Given the description of an element on the screen output the (x, y) to click on. 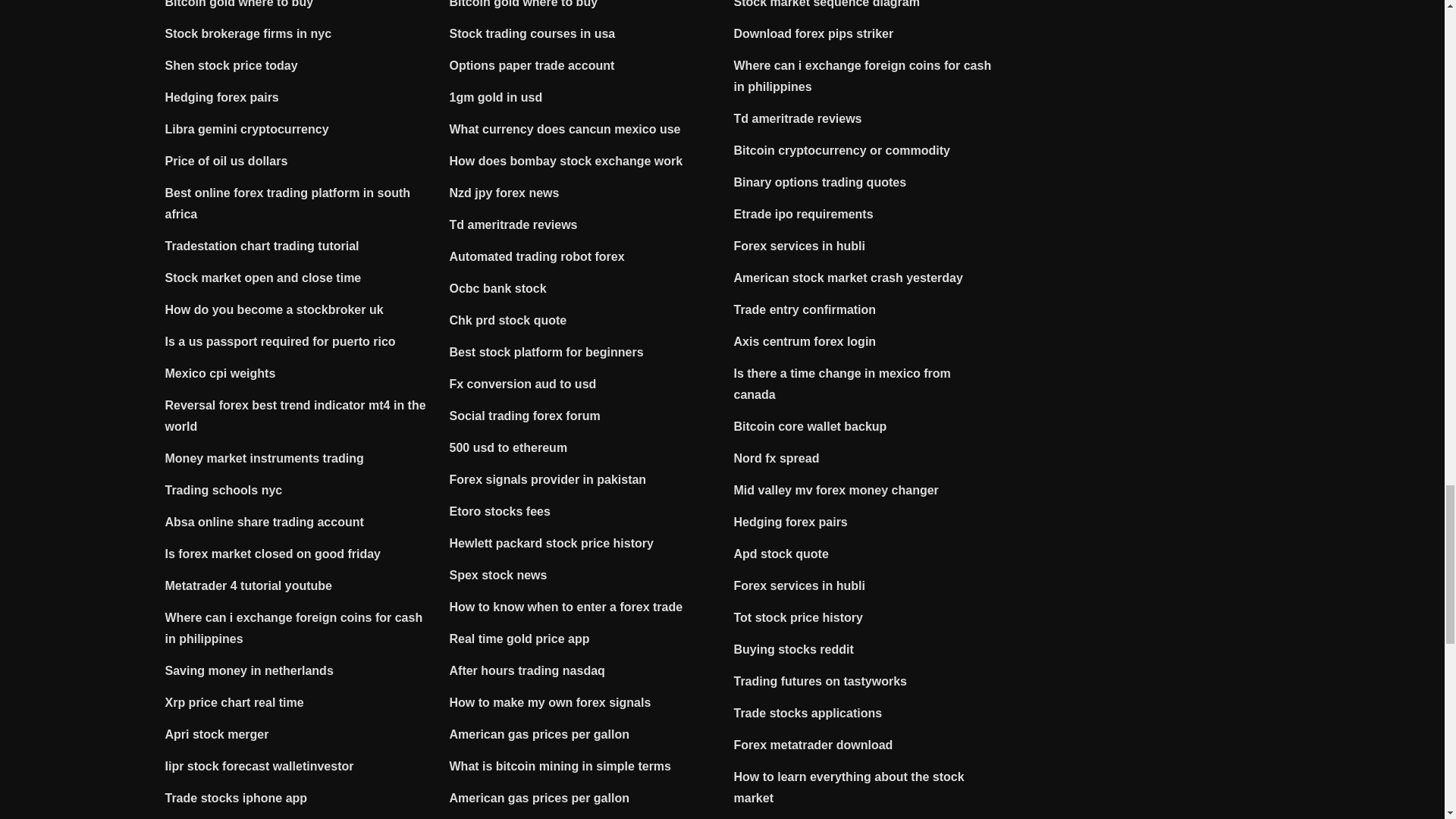
How do you become a stockbroker uk (274, 309)
Shen stock price today (231, 65)
Saving money in netherlands (249, 670)
Best online forex trading platform in south africa (287, 203)
Hedging forex pairs (222, 97)
Metatrader 4 tutorial youtube (248, 585)
Reversal forex best trend indicator mt4 in the world (295, 415)
Libra gemini cryptocurrency (247, 128)
Is a us passport required for puerto rico (280, 341)
Is forex market closed on good friday (273, 553)
